Given the description of an element on the screen output the (x, y) to click on. 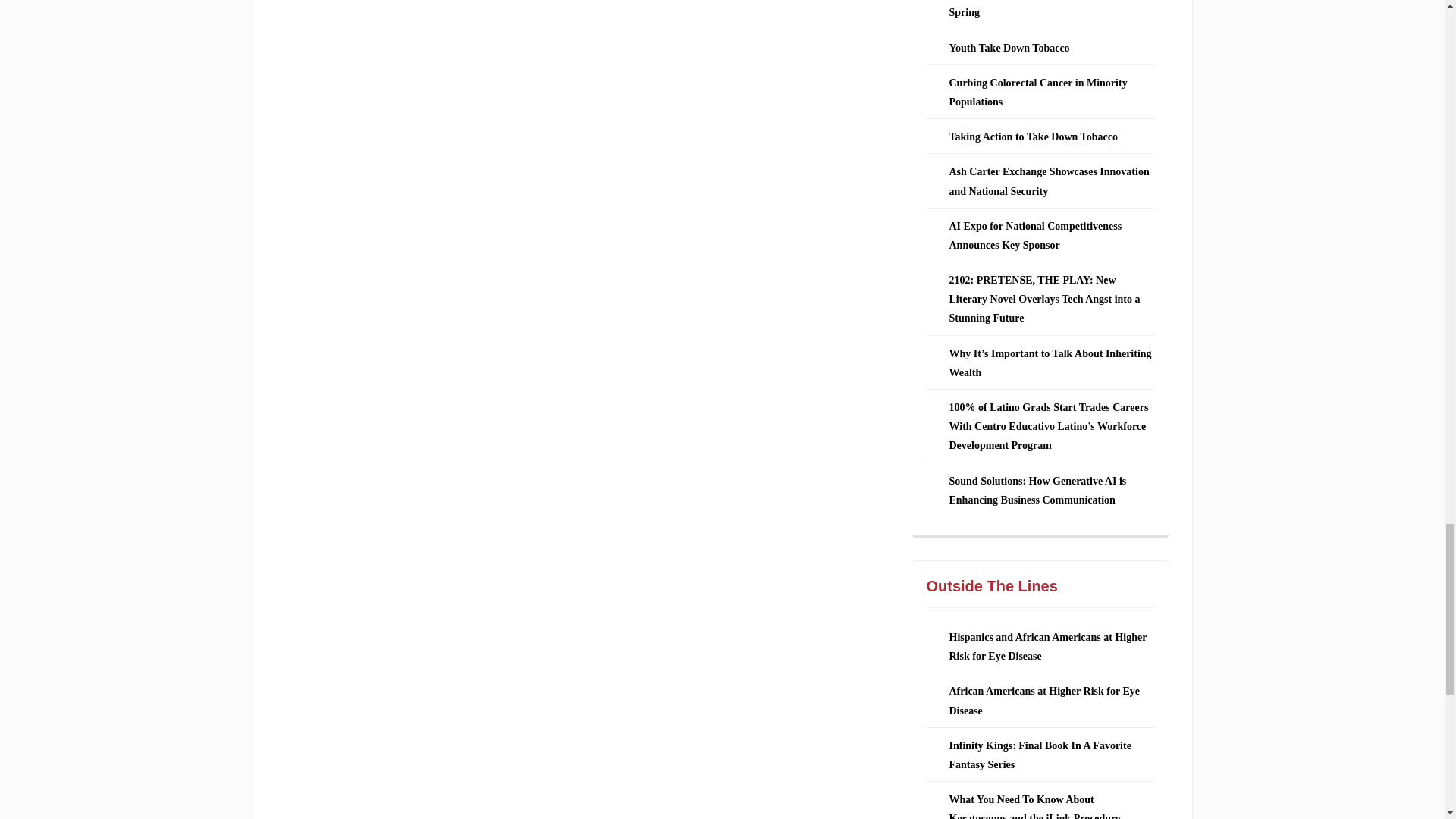
AI Expo for National Competitiveness Announces Key Sponsor (1035, 235)
Taking Action to Take Down Tobacco (1033, 136)
Youth Take Down Tobacco (1009, 48)
Curbing Colorectal Cancer in Minority Populations (1037, 91)
